Given the description of an element on the screen output the (x, y) to click on. 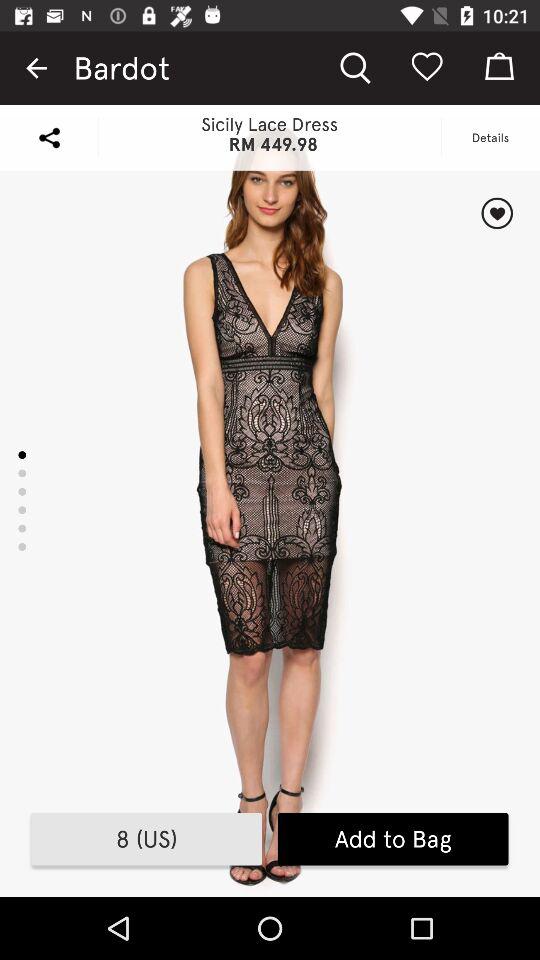
share page (49, 137)
